Given the description of an element on the screen output the (x, y) to click on. 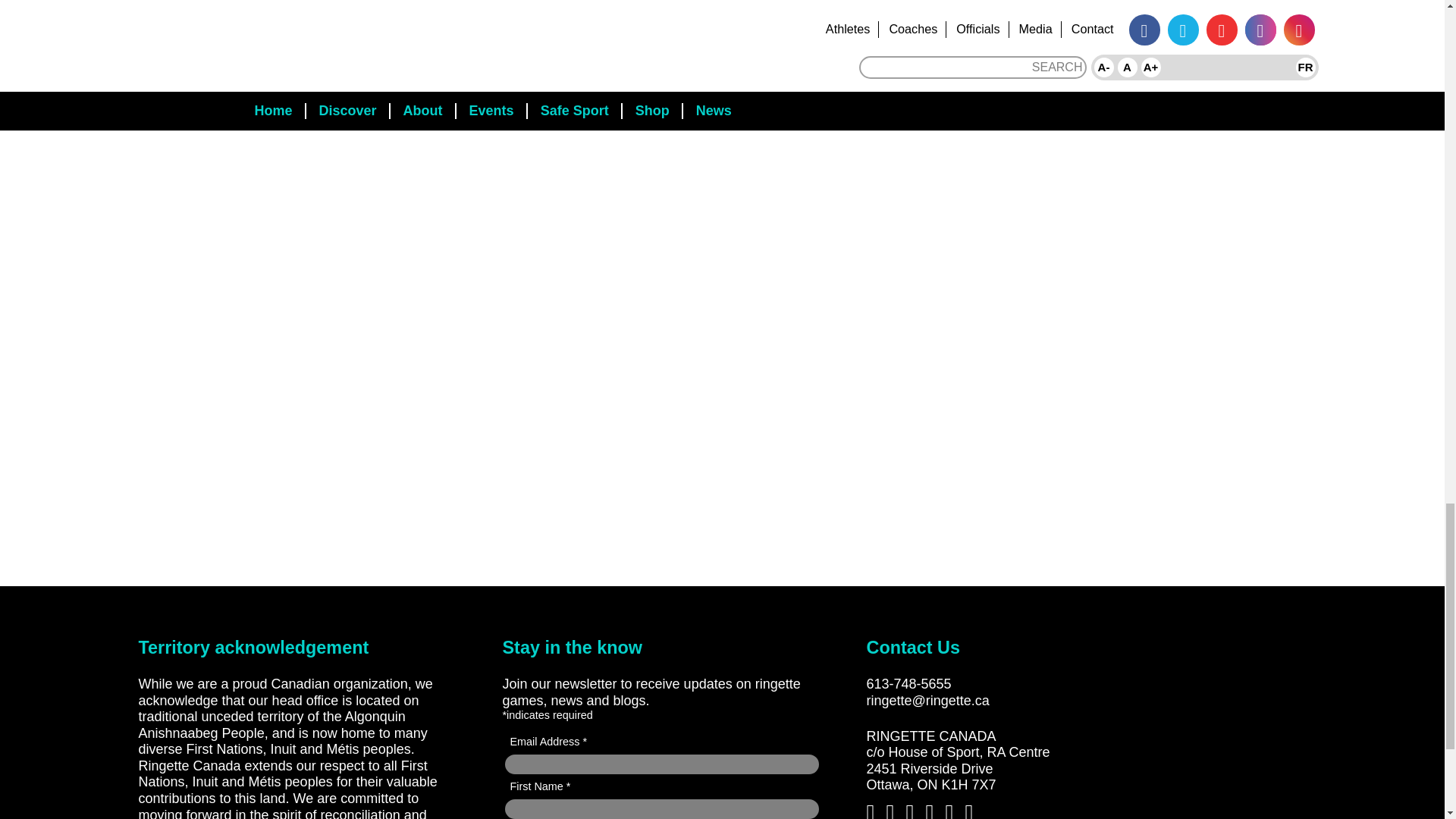
647548 (1188, 739)
canada-footer (1188, 791)
ringette-footer (1207, 672)
